Given the description of an element on the screen output the (x, y) to click on. 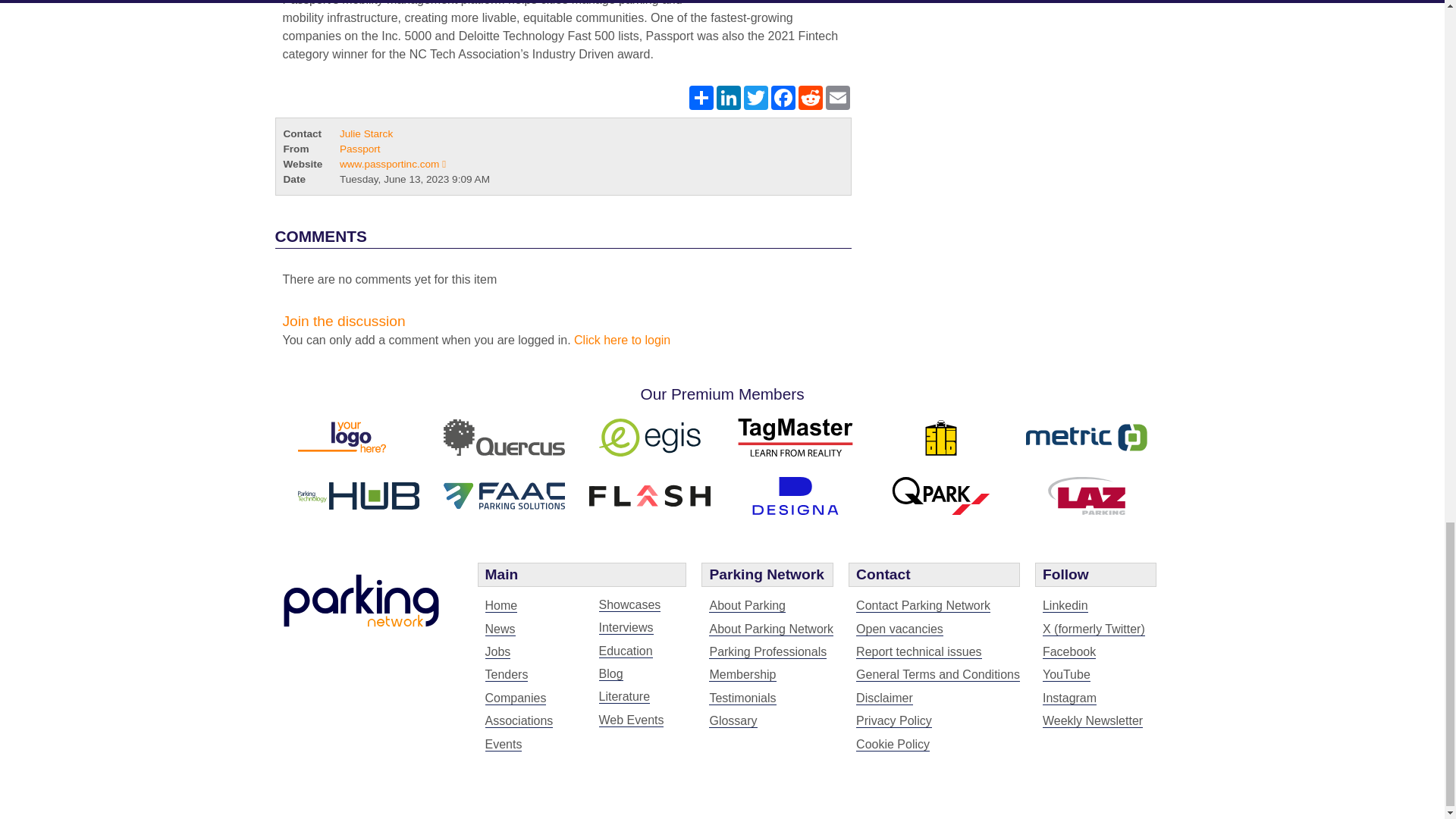
Passport (763, 4)
View profile of Passport (359, 148)
Facebook (782, 97)
Click here to login (621, 339)
News (499, 629)
View website of Passport (392, 163)
Jobs (497, 652)
Twitter (754, 97)
LinkedIn (727, 97)
Home (501, 605)
